Given the description of an element on the screen output the (x, y) to click on. 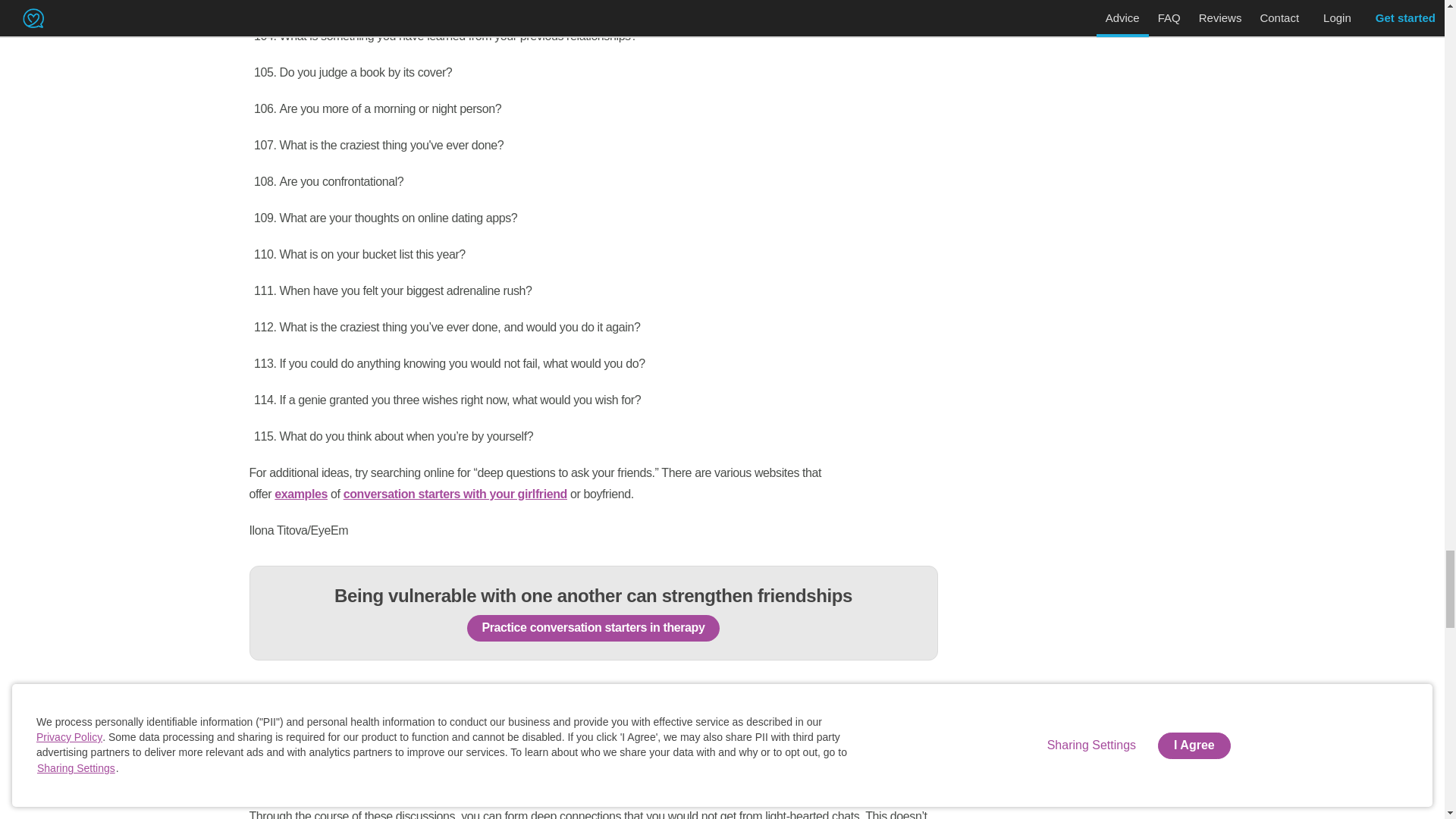
examples (301, 493)
conversation starters with your girlfriend (455, 493)
Practice conversation starters in therapy (593, 628)
